Given the description of an element on the screen output the (x, y) to click on. 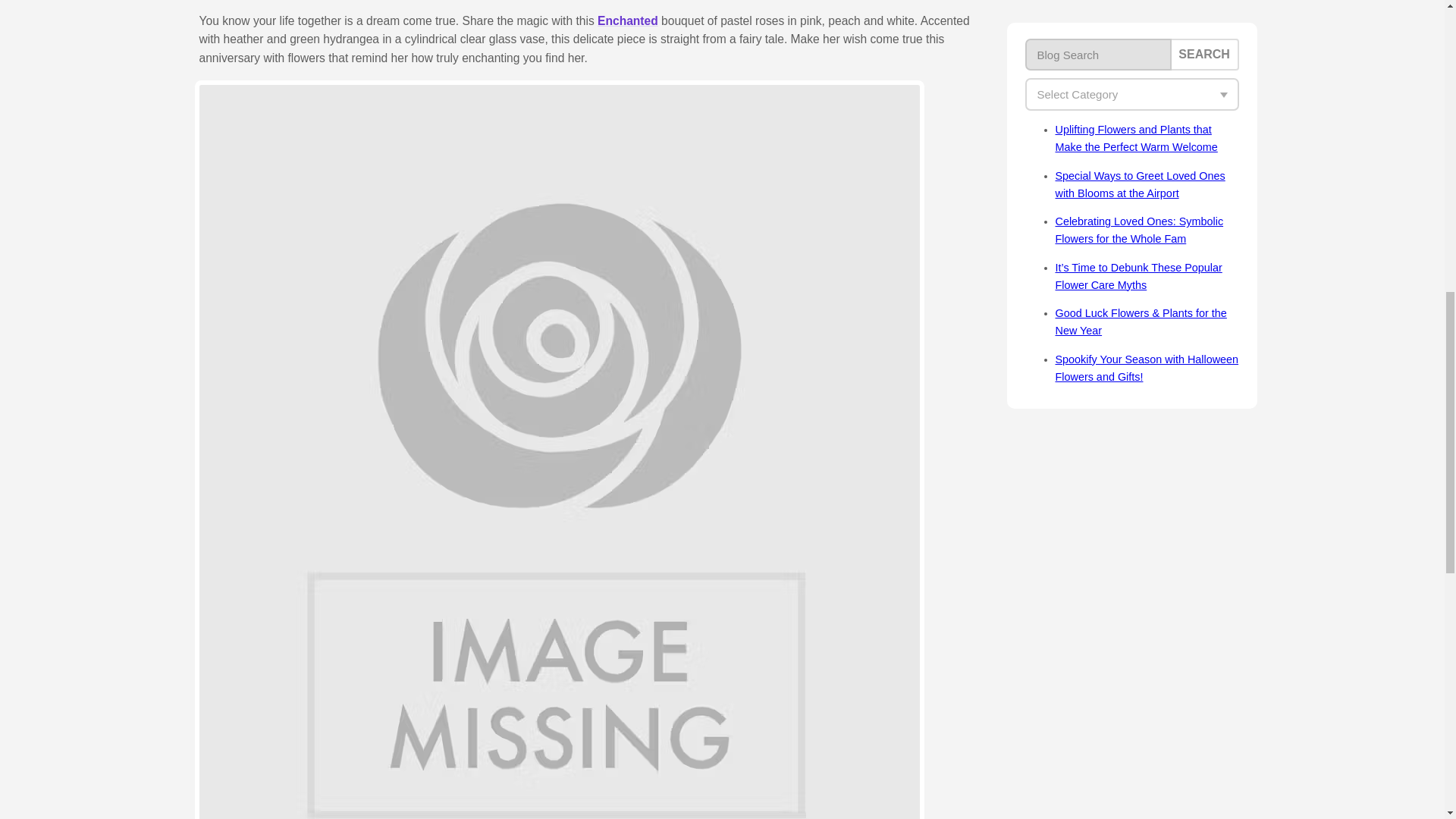
Enchanted (627, 20)
